Given the description of an element on the screen output the (x, y) to click on. 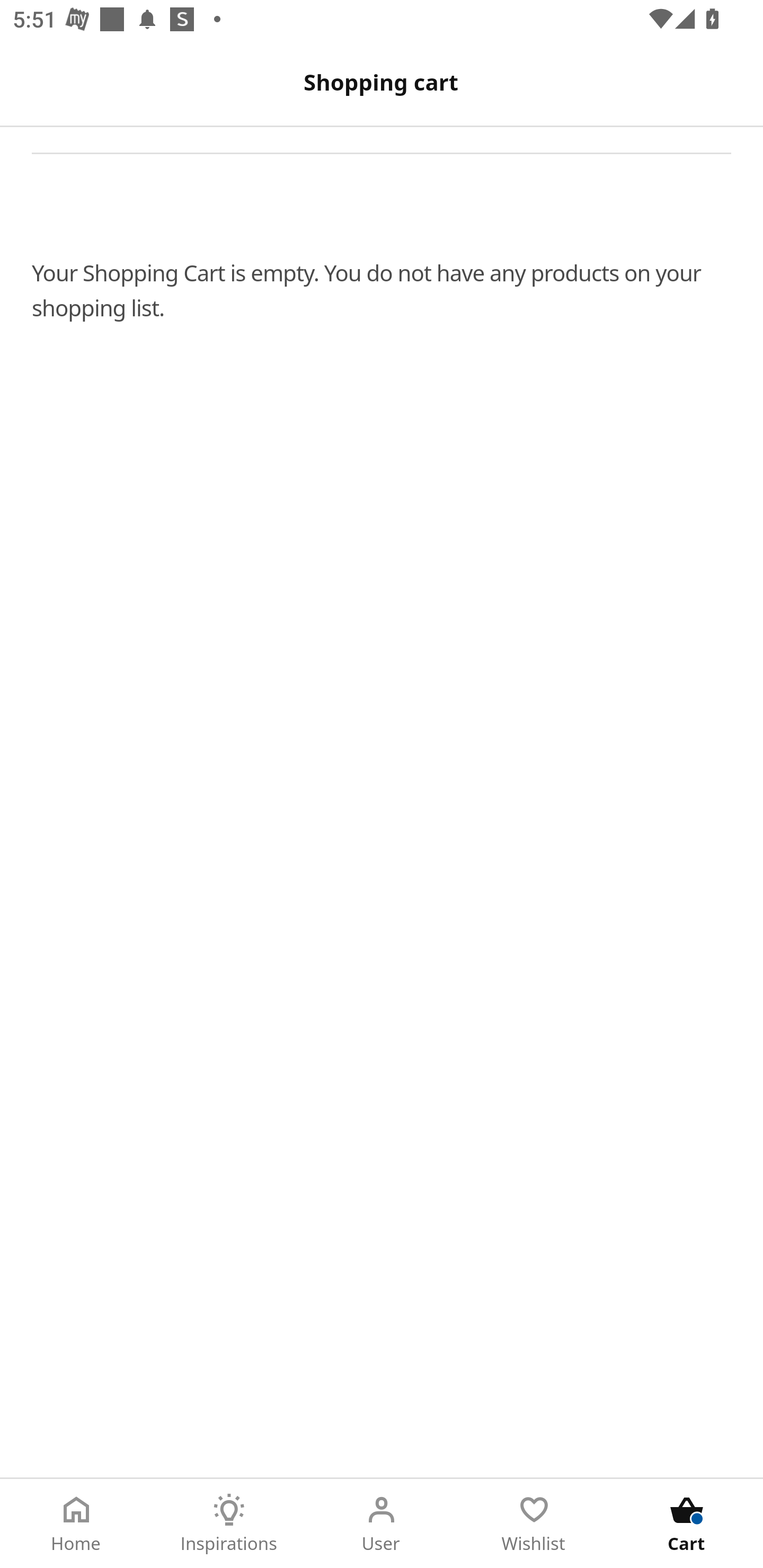
Home
Tab 1 of 5 (76, 1522)
Inspirations
Tab 2 of 5 (228, 1522)
User
Tab 3 of 5 (381, 1522)
Wishlist
Tab 4 of 5 (533, 1522)
Cart
Tab 5 of 5 (686, 1522)
